Given the description of an element on the screen output the (x, y) to click on. 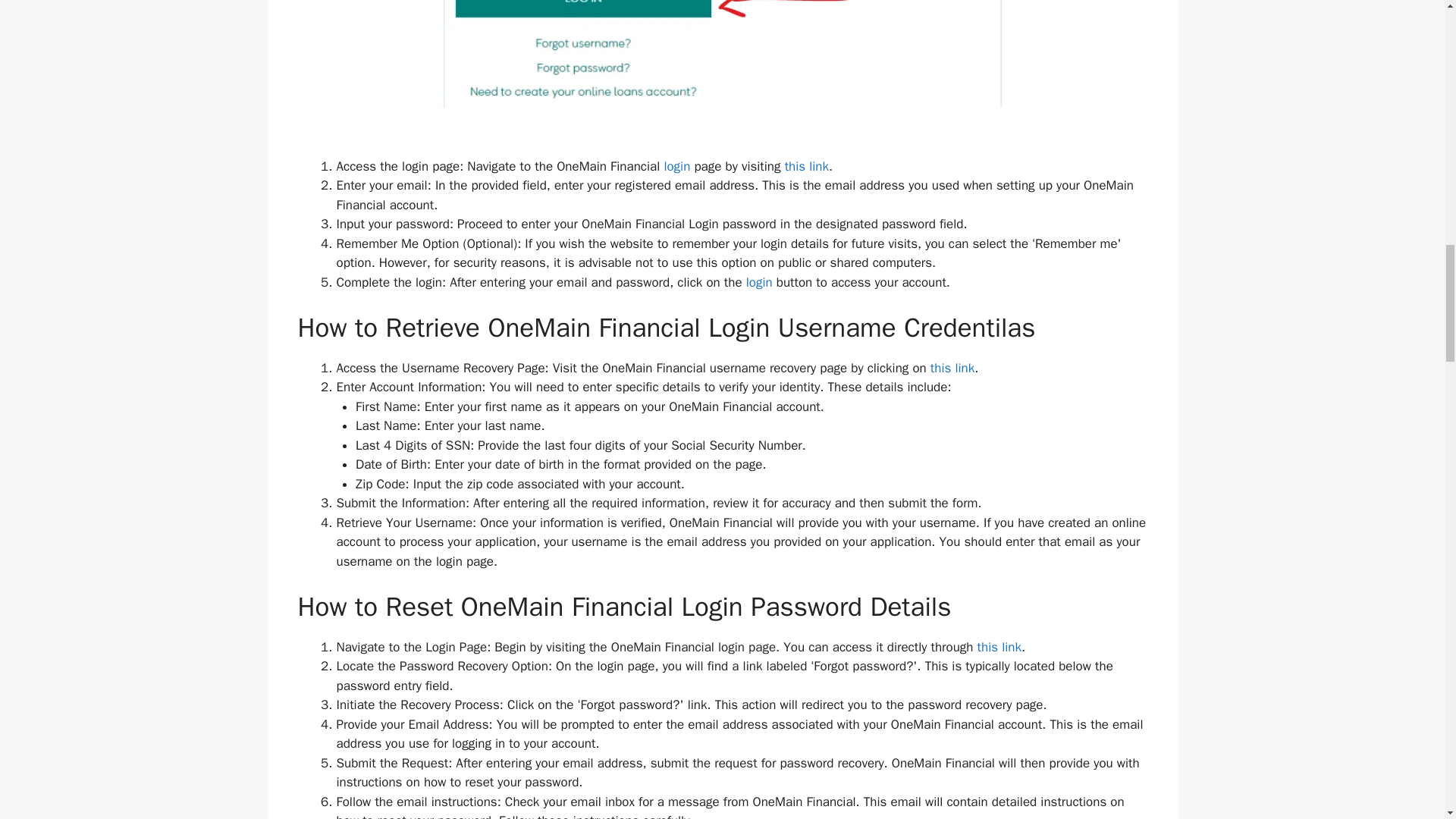
login (759, 282)
this link (806, 166)
this link (999, 647)
this link (952, 367)
login (674, 166)
